Given the description of an element on the screen output the (x, y) to click on. 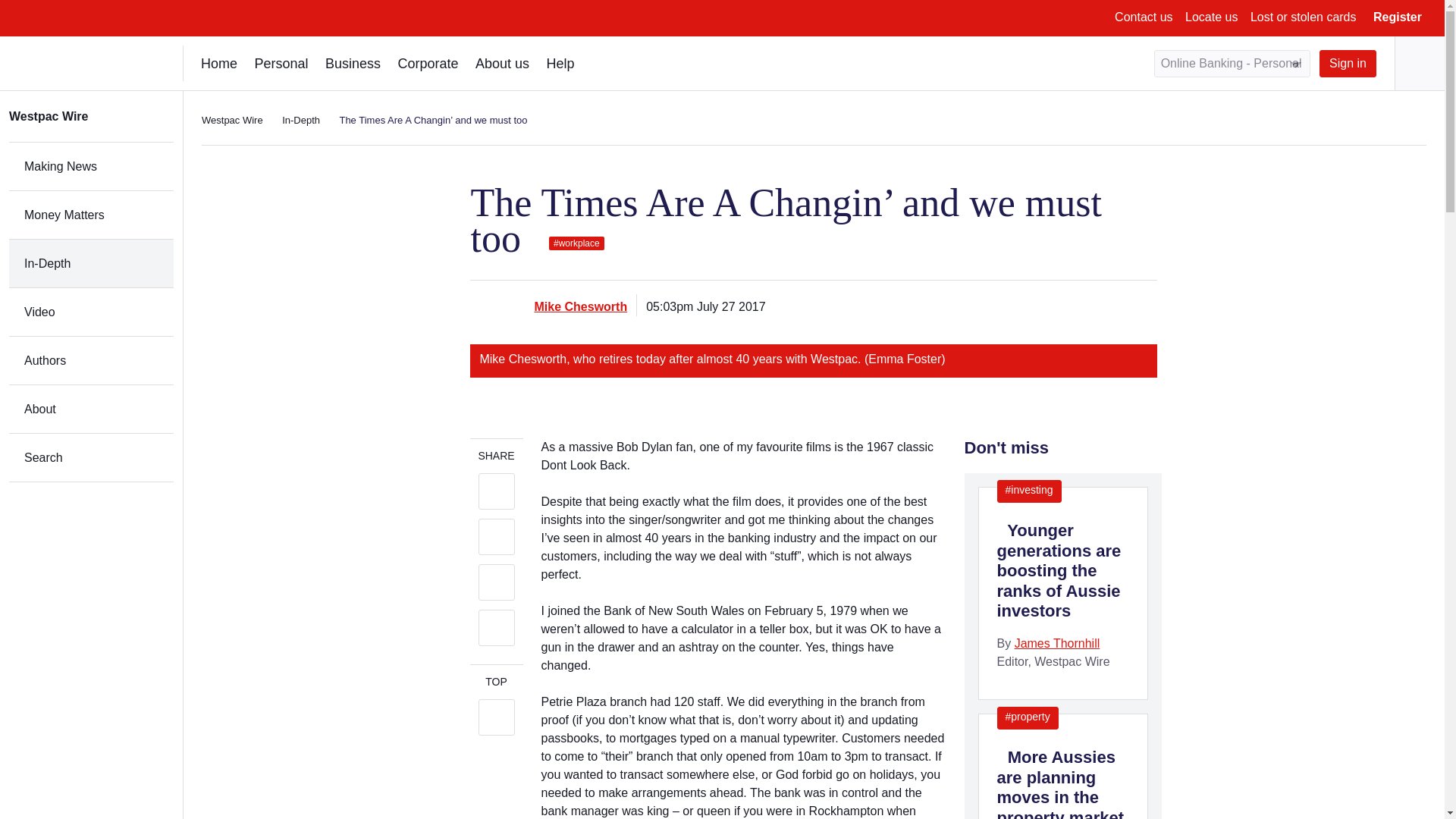
Locate us (1211, 16)
Register (1397, 17)
Contact us (1143, 16)
Sign in (1347, 62)
Lost or stolen cards (1303, 16)
